Given the description of an element on the screen output the (x, y) to click on. 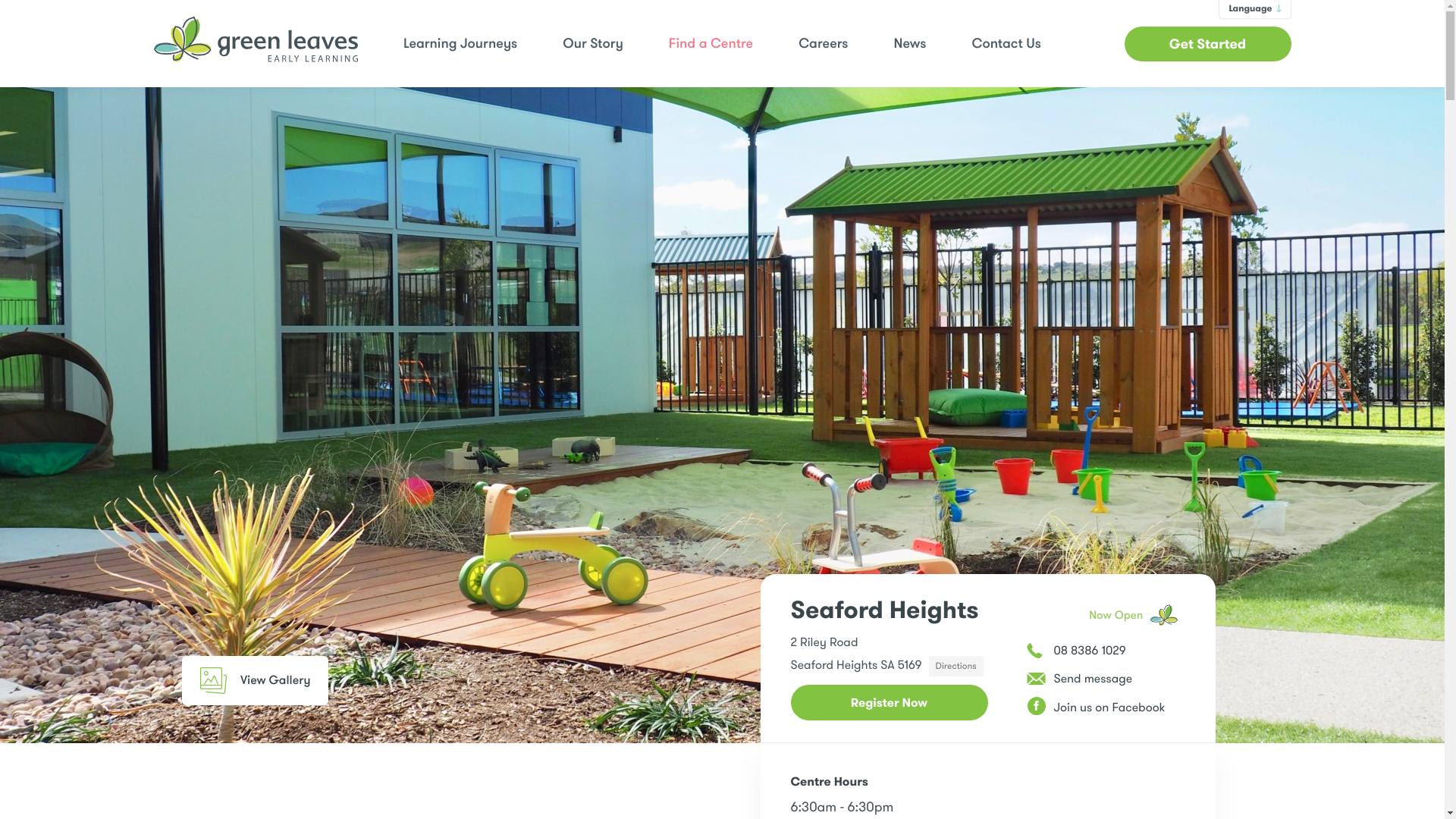
Contact Us Element type: text (1006, 43)
View Gallery Element type: text (255, 680)
Careers Element type: text (822, 43)
News Element type: text (909, 43)
Skip to Content Element type: text (18, 13)
Learning Journeys Element type: text (460, 43)
Get Started Element type: text (1206, 42)
Directions Element type: text (955, 665)
Send message Element type: text (1105, 678)
Find a Centre Element type: text (710, 43)
Join us on Facebook Element type: text (1105, 707)
Register Now Element type: text (888, 702)
08 8386 1029 Element type: text (1105, 650)
Our Story Element type: text (592, 43)
